Given the description of an element on the screen output the (x, y) to click on. 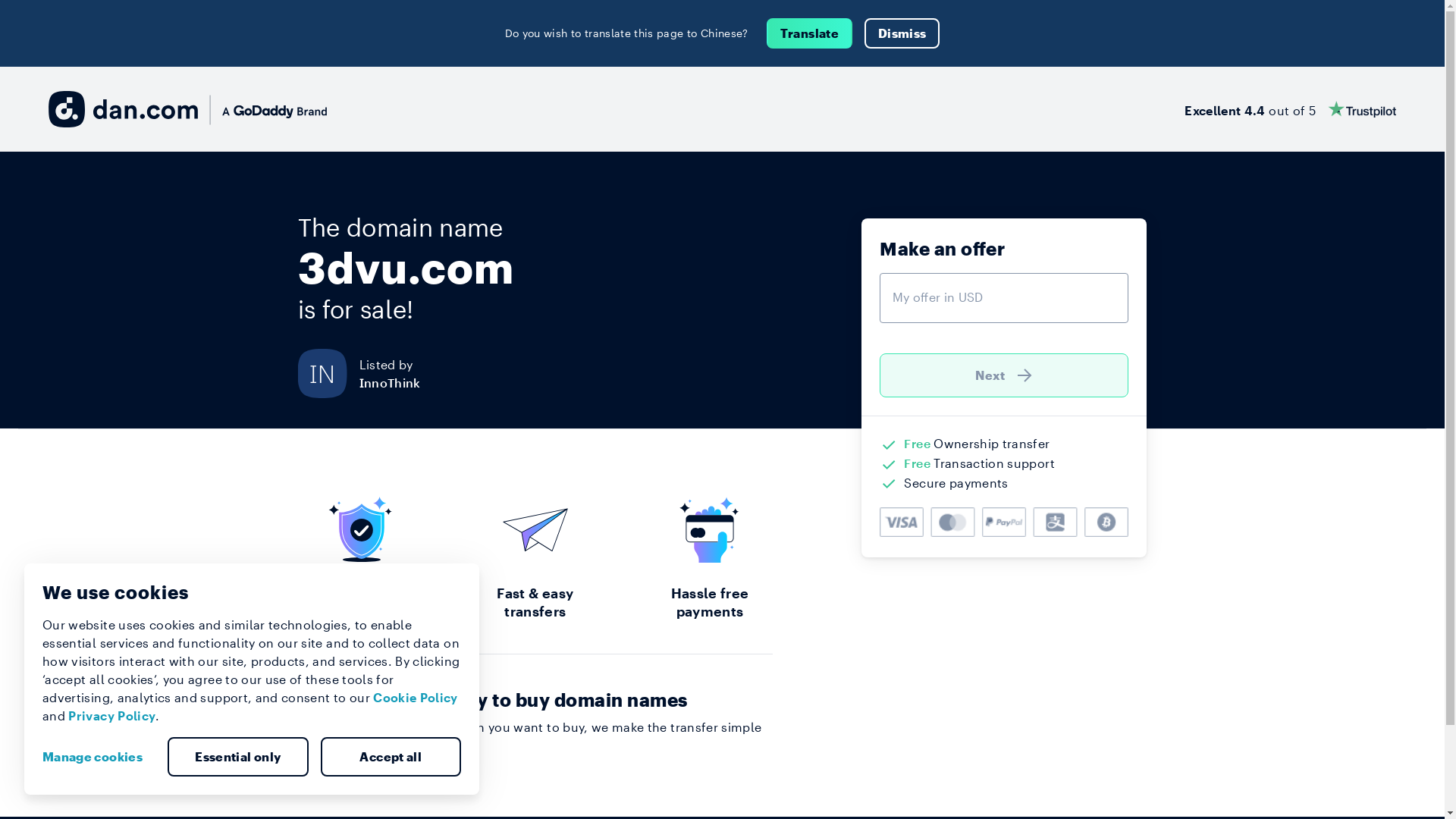
Accept all Element type: text (390, 756)
Translate Element type: text (809, 33)
Next
) Element type: text (1003, 375)
Manage cookies Element type: text (98, 756)
Cookie Policy Element type: text (415, 697)
Essential only Element type: text (237, 756)
Privacy Policy Element type: text (111, 715)
Excellent 4.4 out of 5 Element type: text (1290, 109)
Dismiss Element type: text (901, 33)
